Given the description of an element on the screen output the (x, y) to click on. 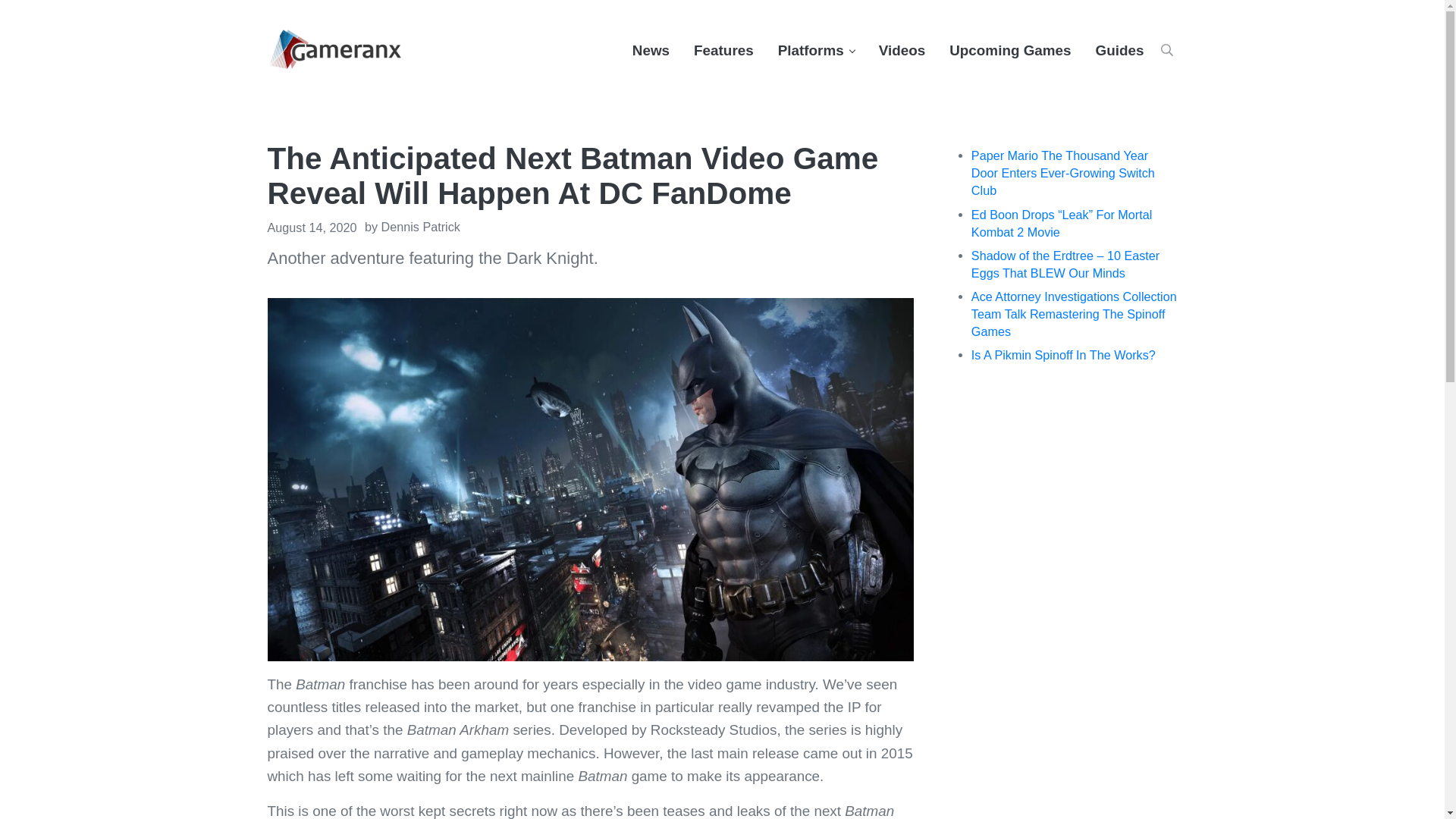
Platforms (815, 50)
Dennis Patrick (420, 226)
Features (723, 50)
Videos (901, 50)
Guides (1119, 50)
News (650, 50)
Upcoming Games (1010, 50)
